Given the description of an element on the screen output the (x, y) to click on. 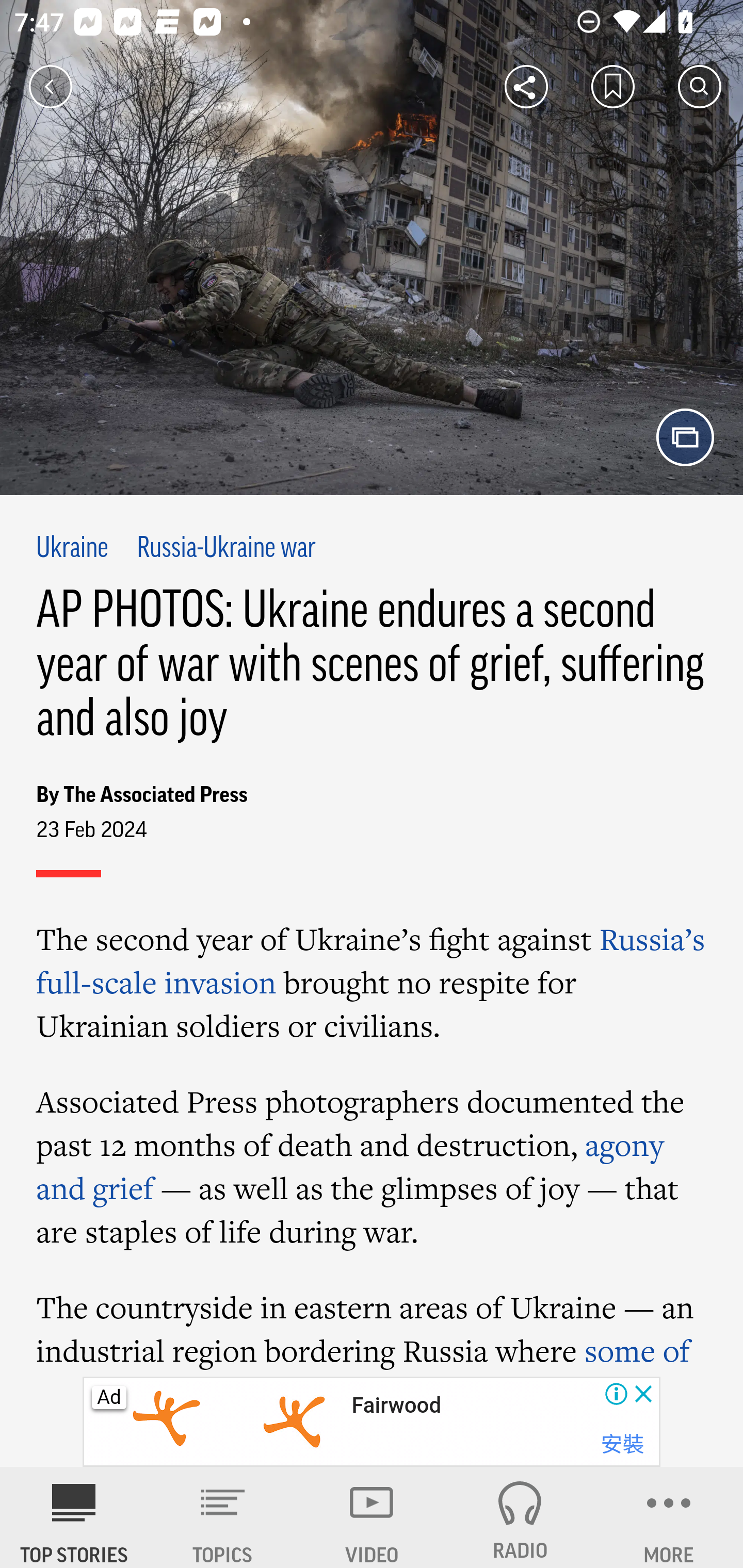
Ukraine (72, 549)
Russia-Ukraine war (226, 549)
Russia’s full-scale invasion (370, 960)
agony and grief (350, 1166)
Fairwood (395, 1405)
安裝 (621, 1444)
AP News TOP STORIES (74, 1517)
TOPICS (222, 1517)
VIDEO (371, 1517)
RADIO (519, 1517)
MORE (668, 1517)
